Given the description of an element on the screen output the (x, y) to click on. 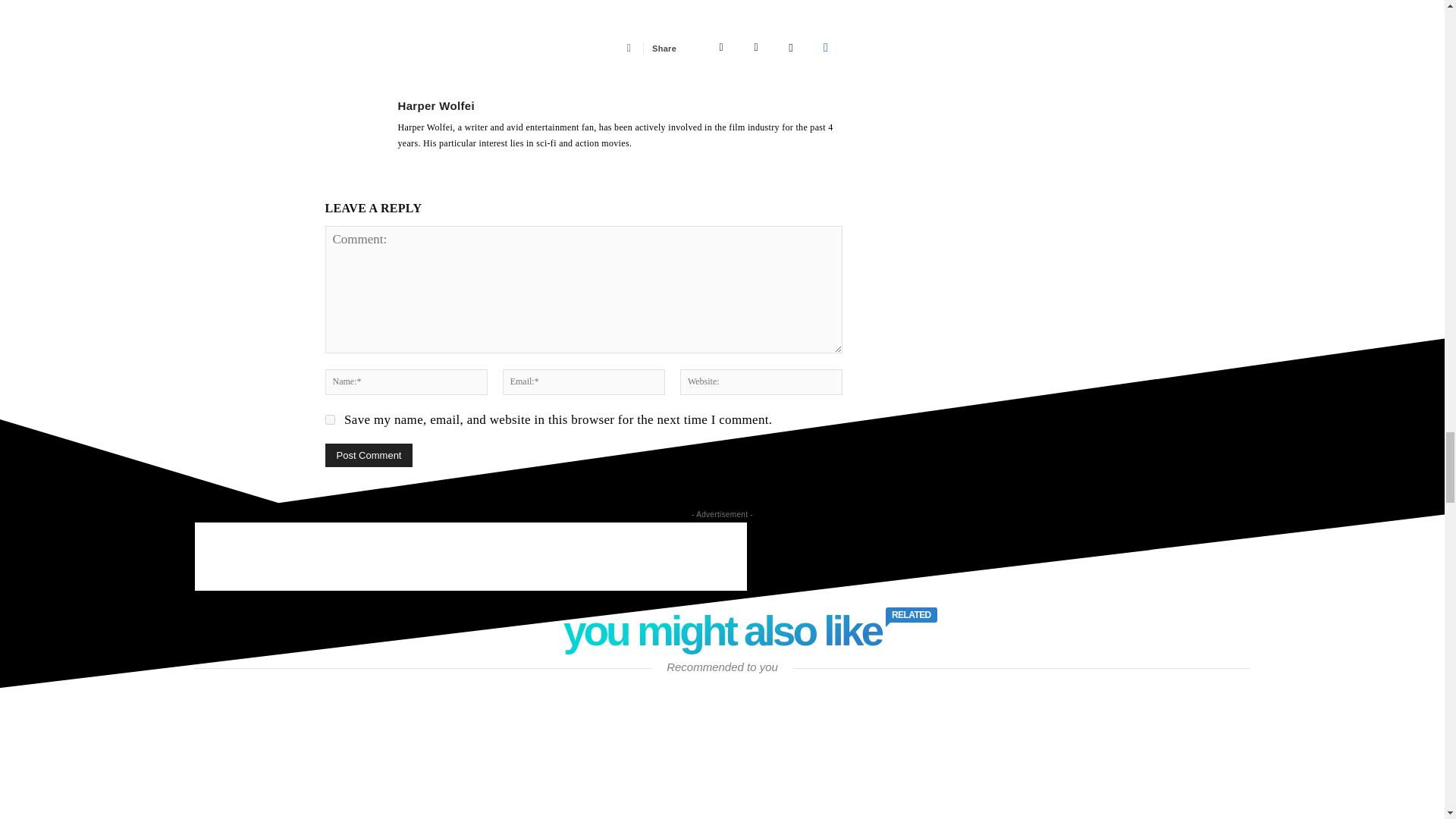
yes (329, 419)
Post Comment (368, 454)
